Given the description of an element on the screen output the (x, y) to click on. 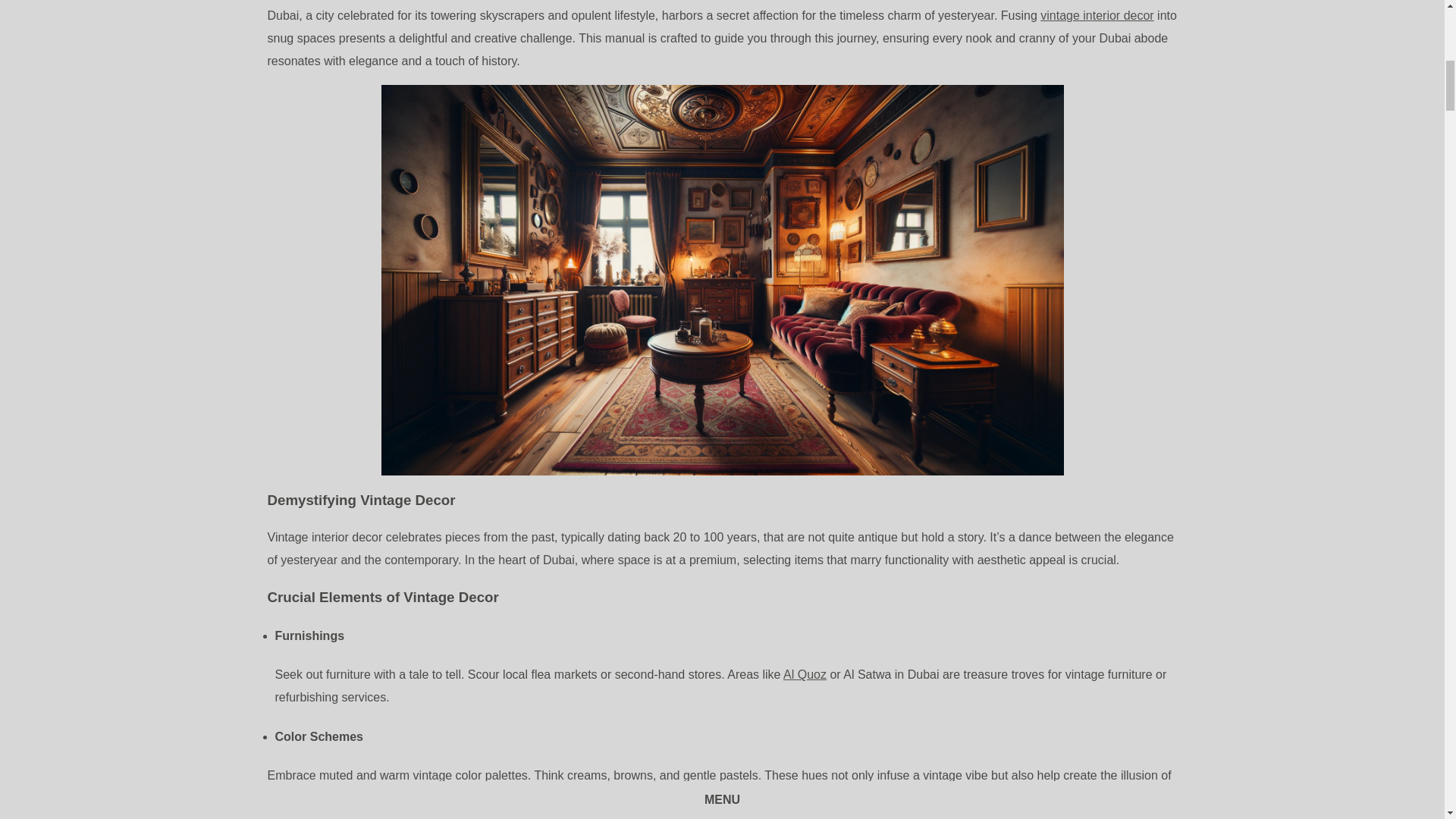
COMMERCIAL (807, 359)
CONTACT (1105, 359)
HOME (319, 359)
PROJECTS (456, 359)
RESIDENTIAL (624, 359)
ABOUT (963, 359)
